Given the description of an element on the screen output the (x, y) to click on. 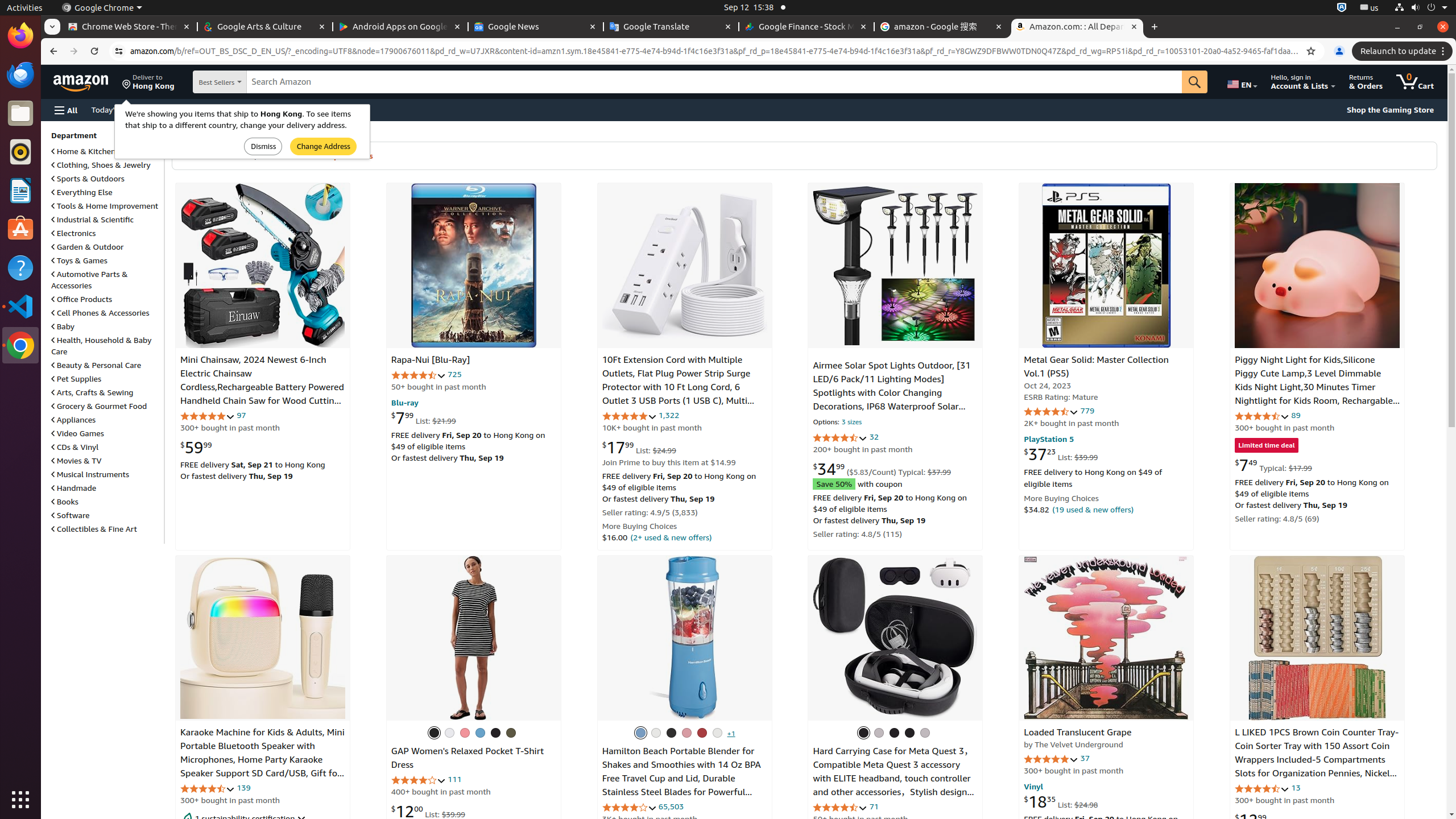
Clothing, Shoes & Jewelry Element type: link (100, 164)
wonlince Hard Carrying Case for Meta Quest 3，Compatible Meta Quest 3 accessory with ELITE headband, touch controller and o... Element type: link (895, 637)
Customer Service Element type: link (184, 109)
Returns & Orders Element type: link (1365, 81)
Mini Chainsaw, 2024 Newest 6-Inch Electric Chainsaw Cordless,Rechargeable Battery Powered Handheld Chain Saw for Wood Cutting, Courtyard, Household and Garden Element type: link (262, 387)
